Given the description of an element on the screen output the (x, y) to click on. 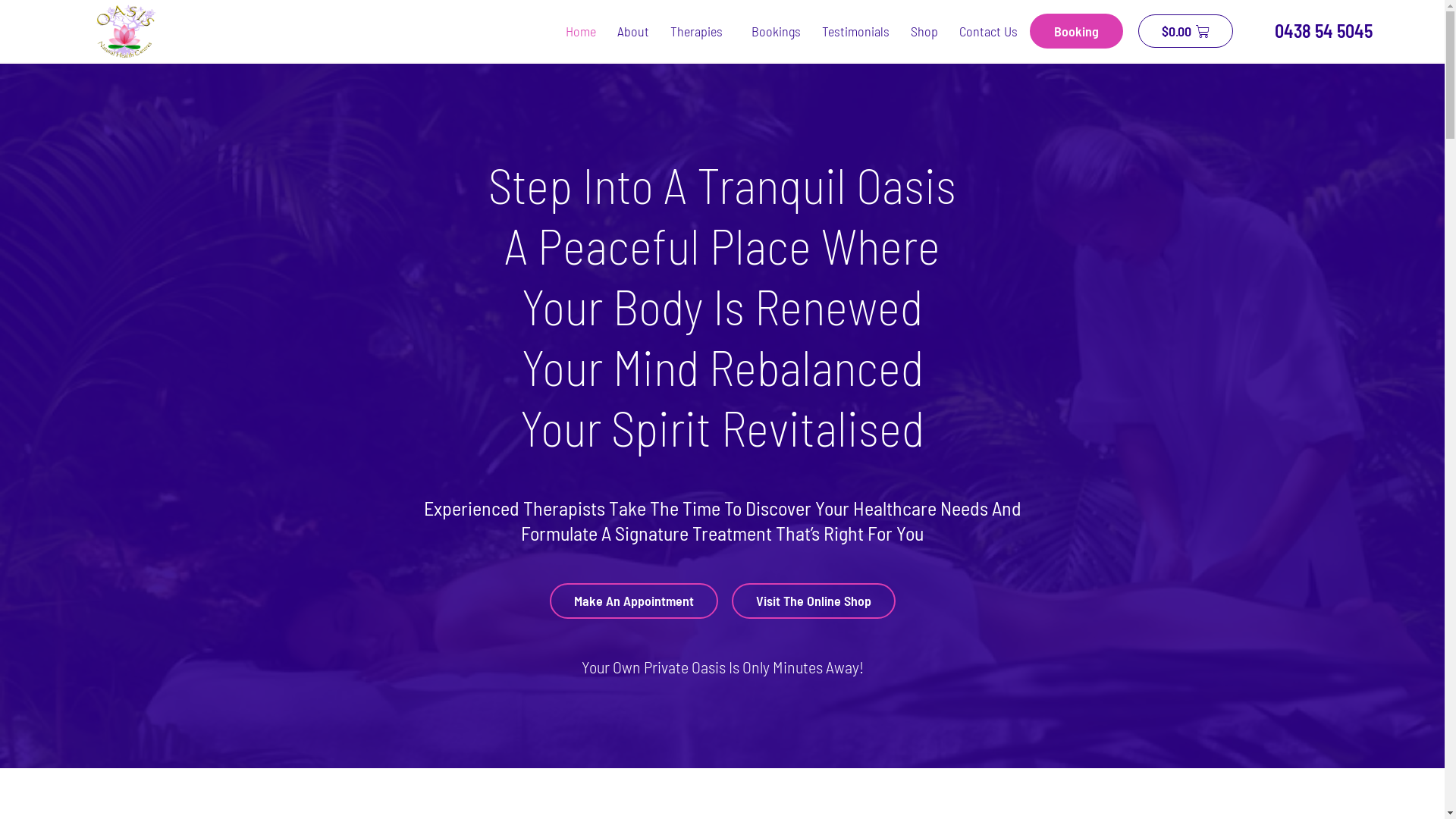
Testimonials Element type: text (855, 30)
Therapies Element type: text (699, 30)
$0.00
Cart Element type: text (1185, 31)
Contact Us Element type: text (988, 30)
Make An Appointment Element type: text (633, 600)
Bookings Element type: text (775, 30)
0438 54 5045 Element type: text (1310, 30)
Shop Element type: text (924, 30)
About Element type: text (632, 30)
Visit The Online Shop Element type: text (812, 600)
Booking Element type: text (1076, 31)
Home Element type: text (580, 30)
